Given the description of an element on the screen output the (x, y) to click on. 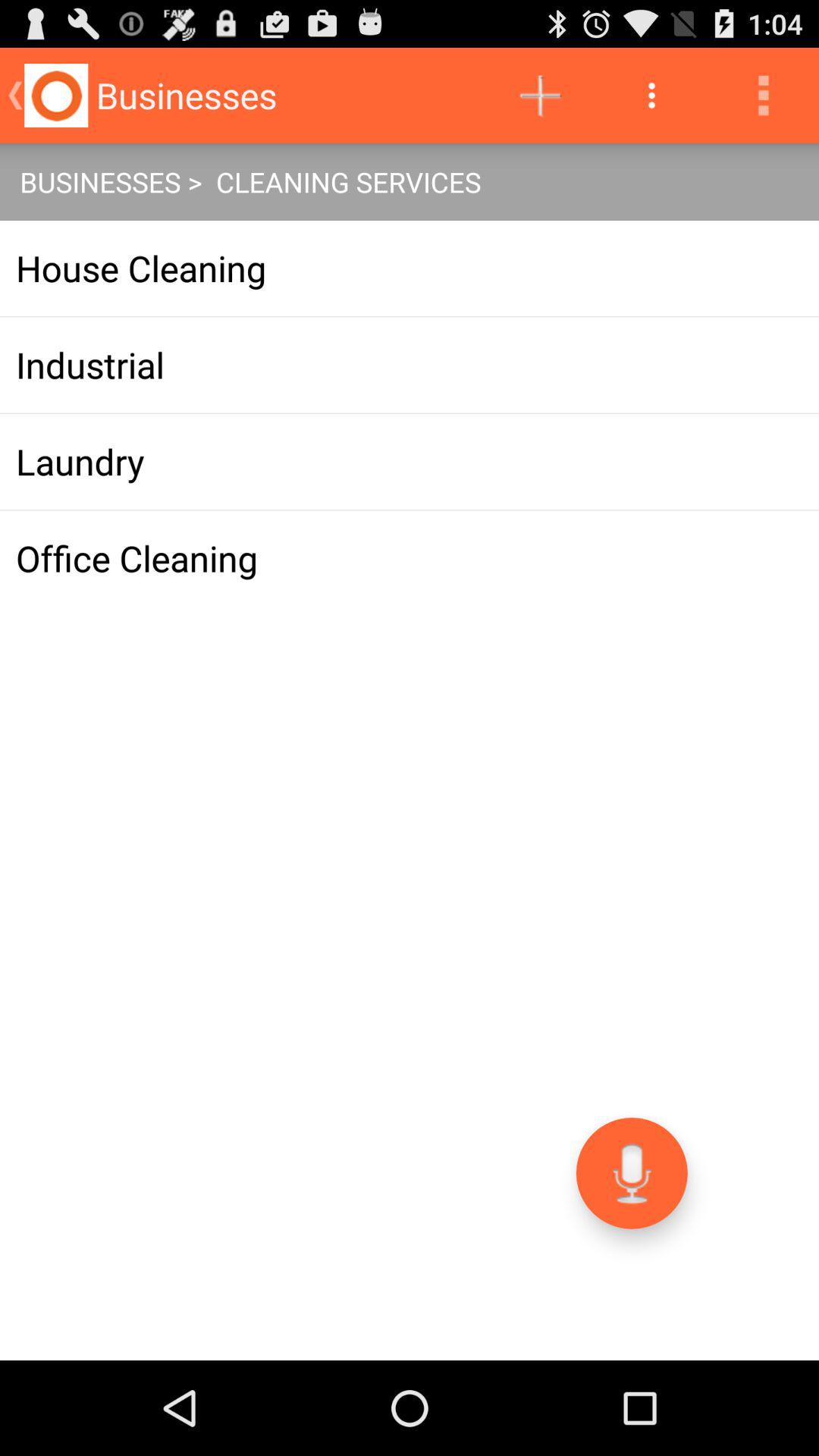
press office cleaning (409, 558)
